Given the description of an element on the screen output the (x, y) to click on. 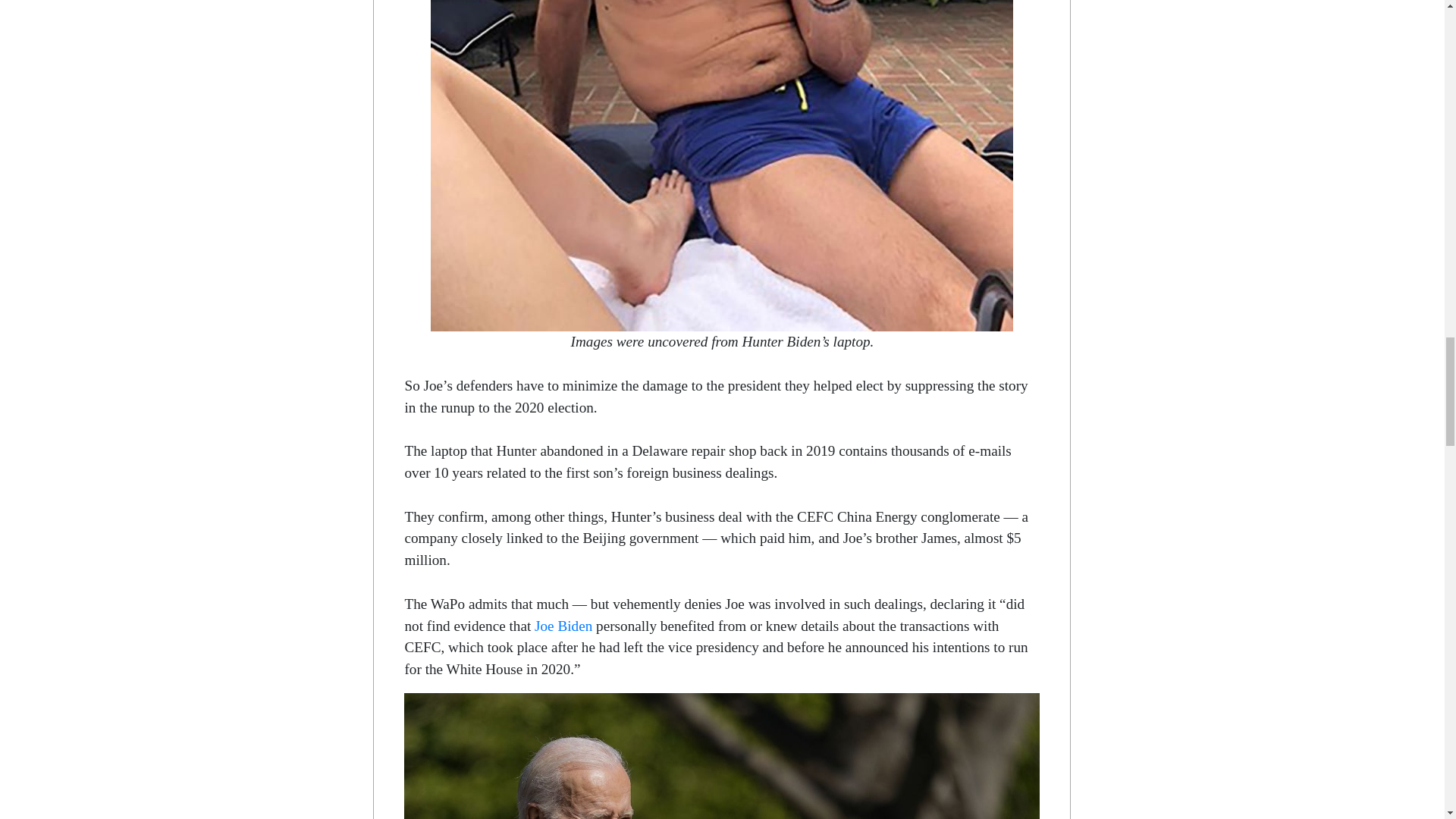
Joe Biden (563, 625)
